Given the description of an element on the screen output the (x, y) to click on. 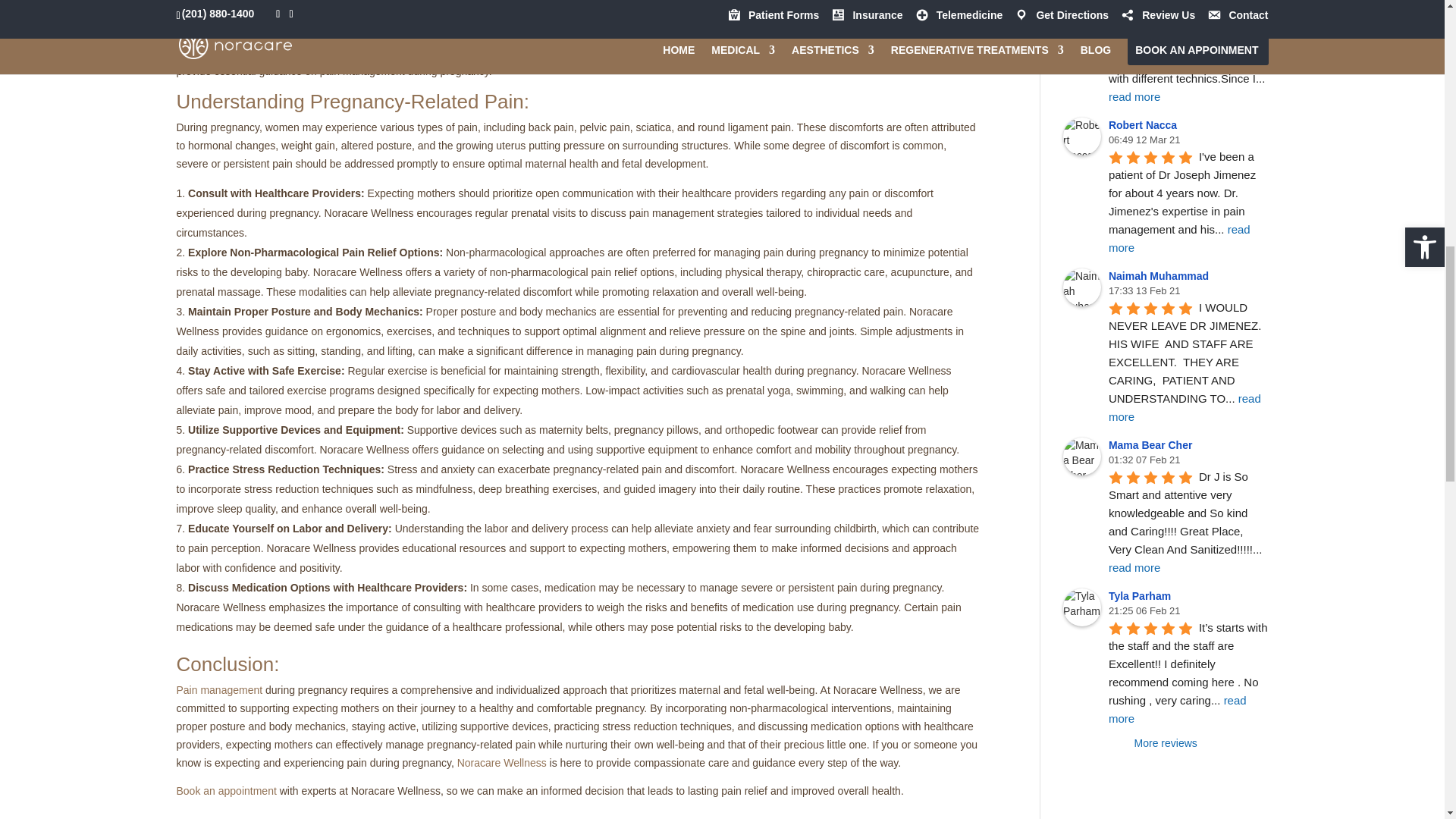
X (259, 3)
More (652, 3)
Pinterest (427, 3)
Reddit (315, 3)
Facebook (203, 3)
Mix (540, 3)
Mastodon (484, 3)
Linkedin (372, 3)
Whatsapp (596, 3)
